Given the description of an element on the screen output the (x, y) to click on. 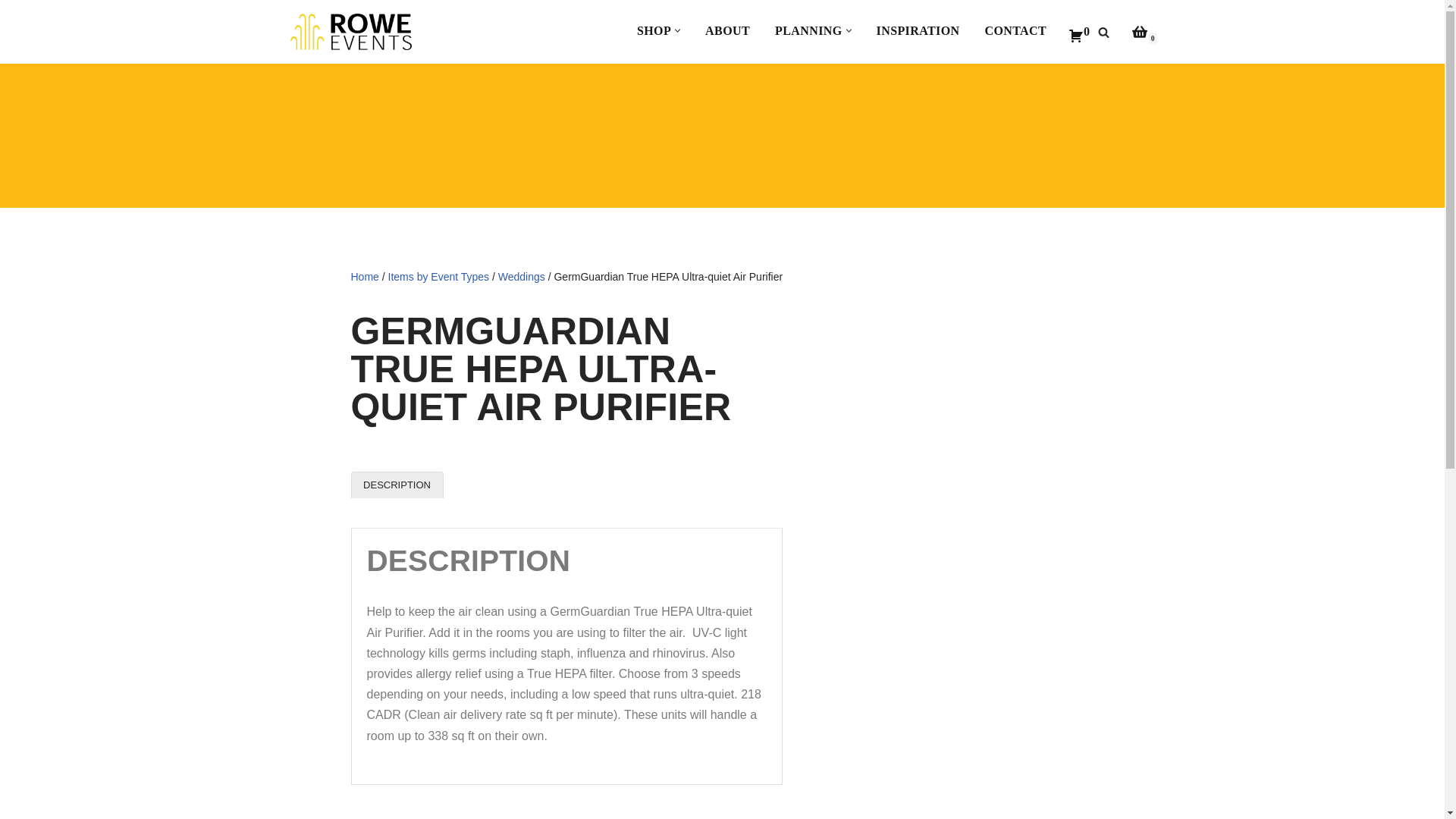
PLANNING (808, 30)
0 (1078, 31)
INSPIRATION (917, 30)
View Quote (1078, 31)
Skip to content (11, 31)
SHOP (654, 30)
ABOUT (726, 30)
0 (1139, 31)
CONTACT (1015, 30)
